Given the description of an element on the screen output the (x, y) to click on. 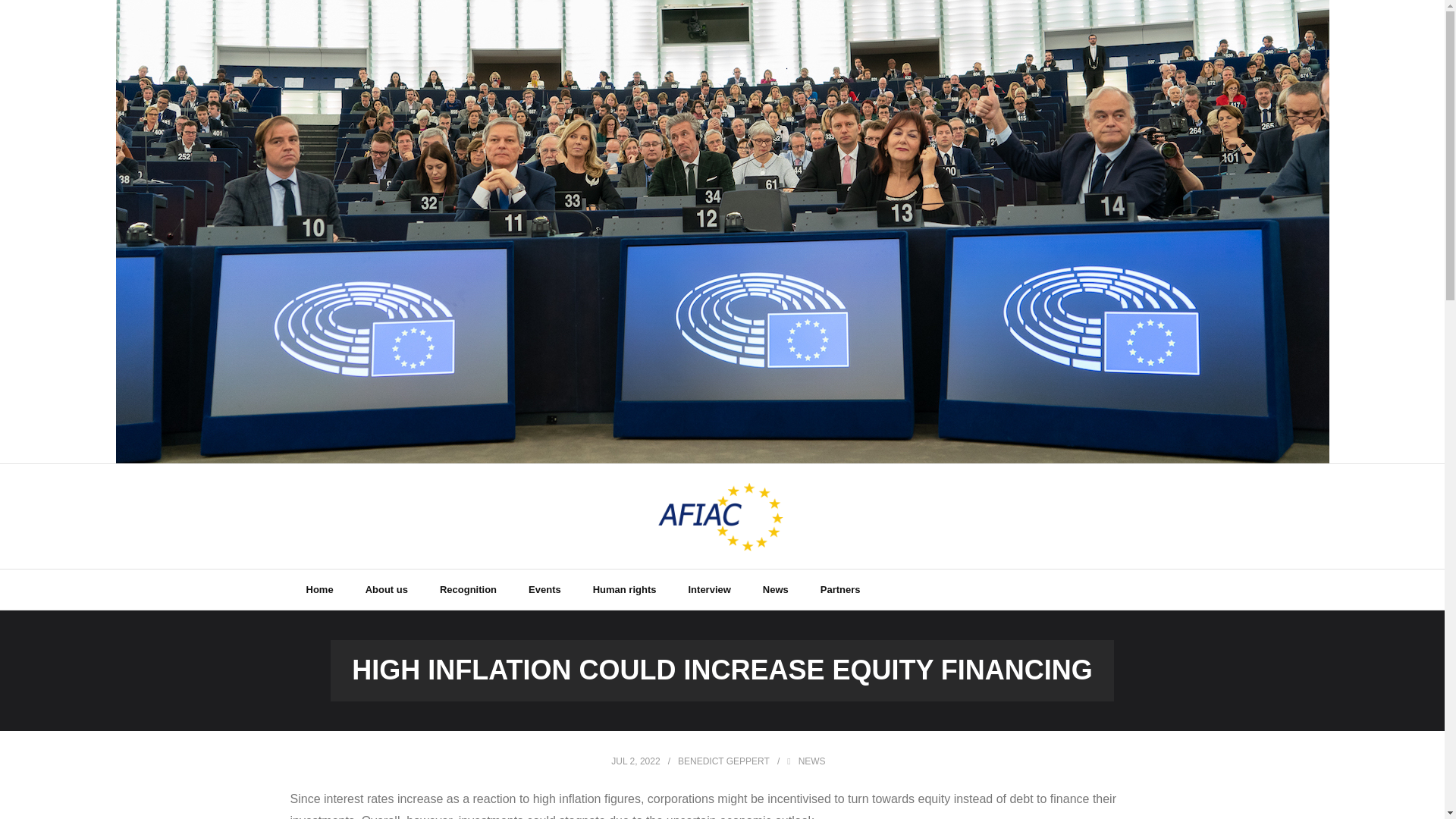
Human rights (624, 589)
Recognition (467, 589)
High inflation could increase equity financing (635, 760)
Partners (840, 589)
Events (544, 589)
News (775, 589)
NEWS (811, 760)
View all posts by Benedict Geppert (724, 760)
Home (319, 589)
JUL 2, 2022 (635, 760)
BENEDICT GEPPERT (724, 760)
Interview (708, 589)
About us (386, 589)
